Given the description of an element on the screen output the (x, y) to click on. 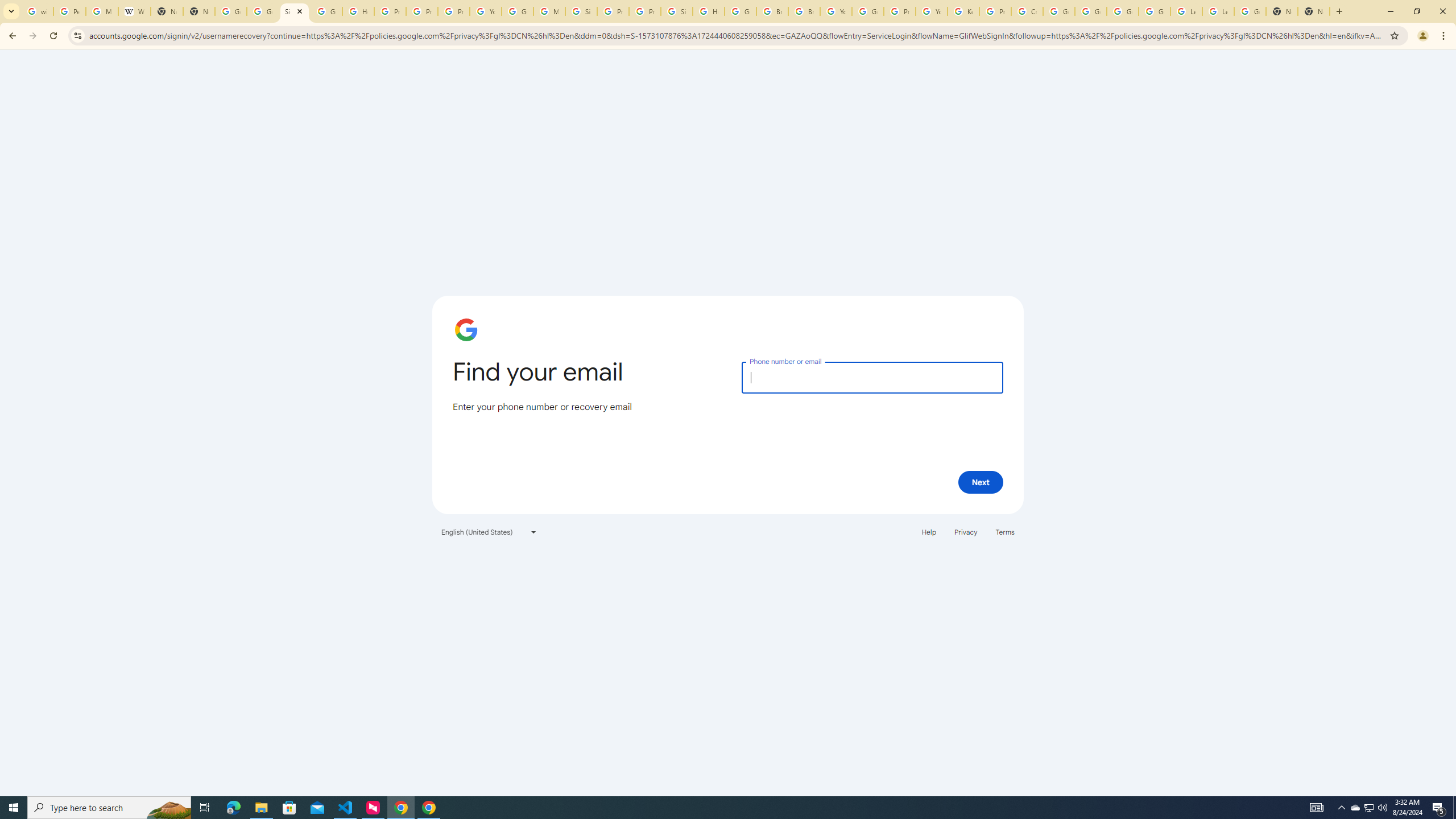
New Tab (1313, 11)
Sign in - Google Accounts (581, 11)
Wikipedia:Edit requests - Wikipedia (134, 11)
Privacy (965, 531)
YouTube (931, 11)
Google Account Help (1091, 11)
